Given the description of an element on the screen output the (x, y) to click on. 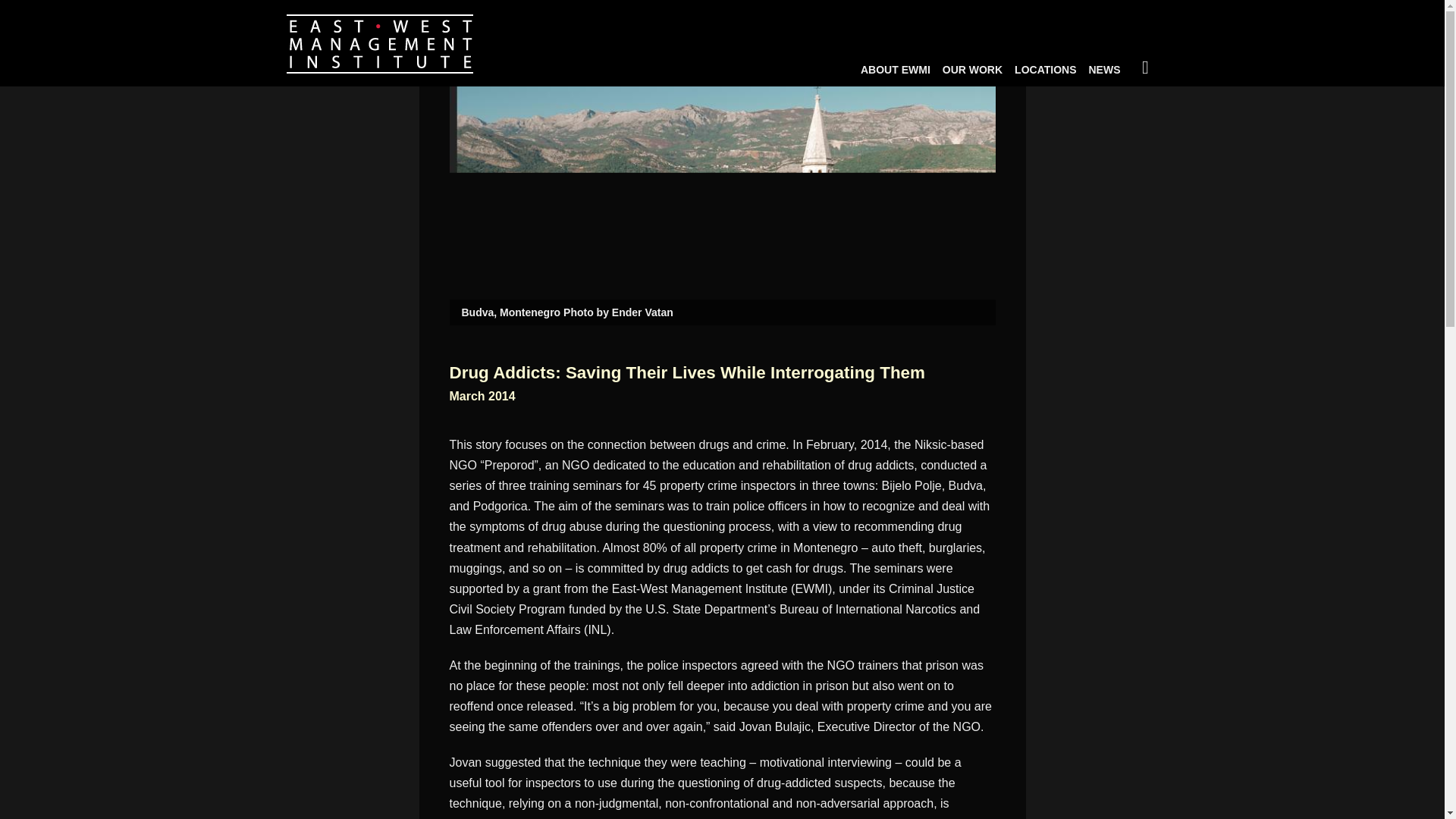
ABOUT EWMI (895, 66)
OUR WORK (972, 66)
LOCATIONS (1044, 66)
NEWS (1105, 66)
